Given the description of an element on the screen output the (x, y) to click on. 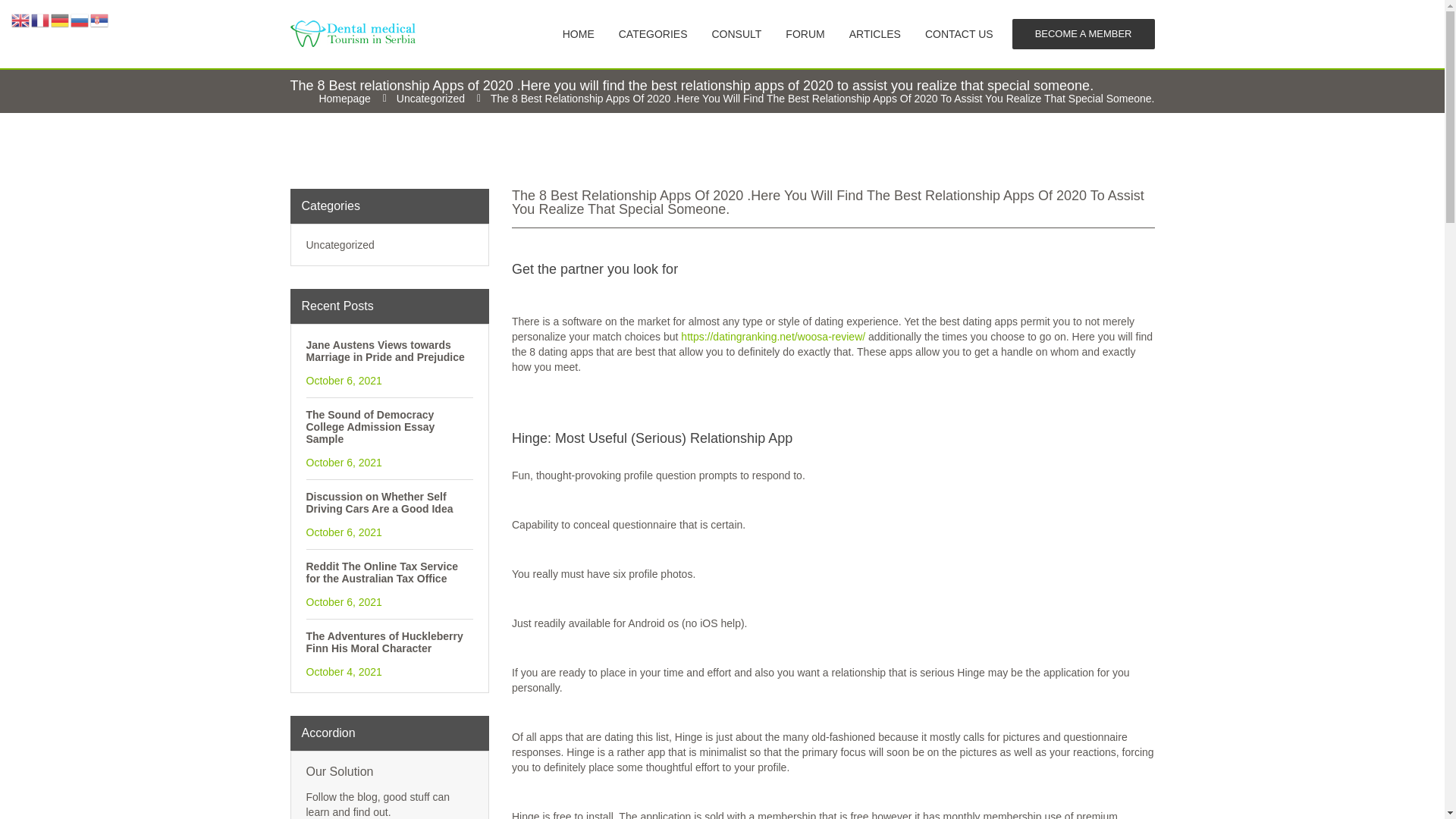
Homepage (344, 98)
The Adventures of Huckleberry Finn His Moral Character (389, 641)
CONSULT (736, 33)
The Sound of Democracy College Admission Essay Sample (389, 426)
Serbian (100, 19)
French (40, 19)
CATEGORIES (652, 33)
HOME (578, 33)
BECOME A MEMBER (1082, 33)
Our Solution (389, 771)
